Given the description of an element on the screen output the (x, y) to click on. 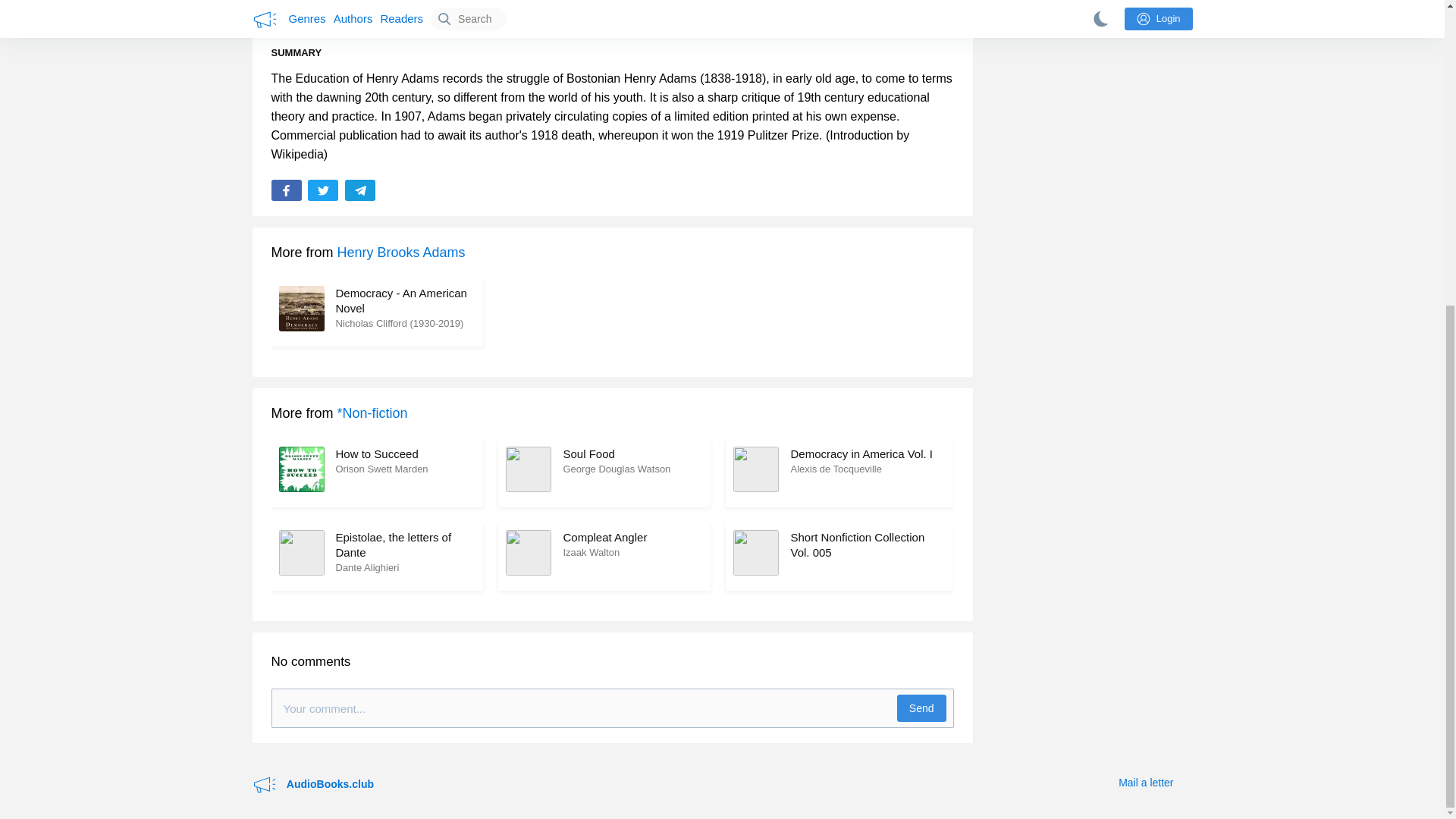
Jeannie (438, 15)
Henry Brooks Adams (839, 472)
Henry Brooks Adams (603, 556)
